Given the description of an element on the screen output the (x, y) to click on. 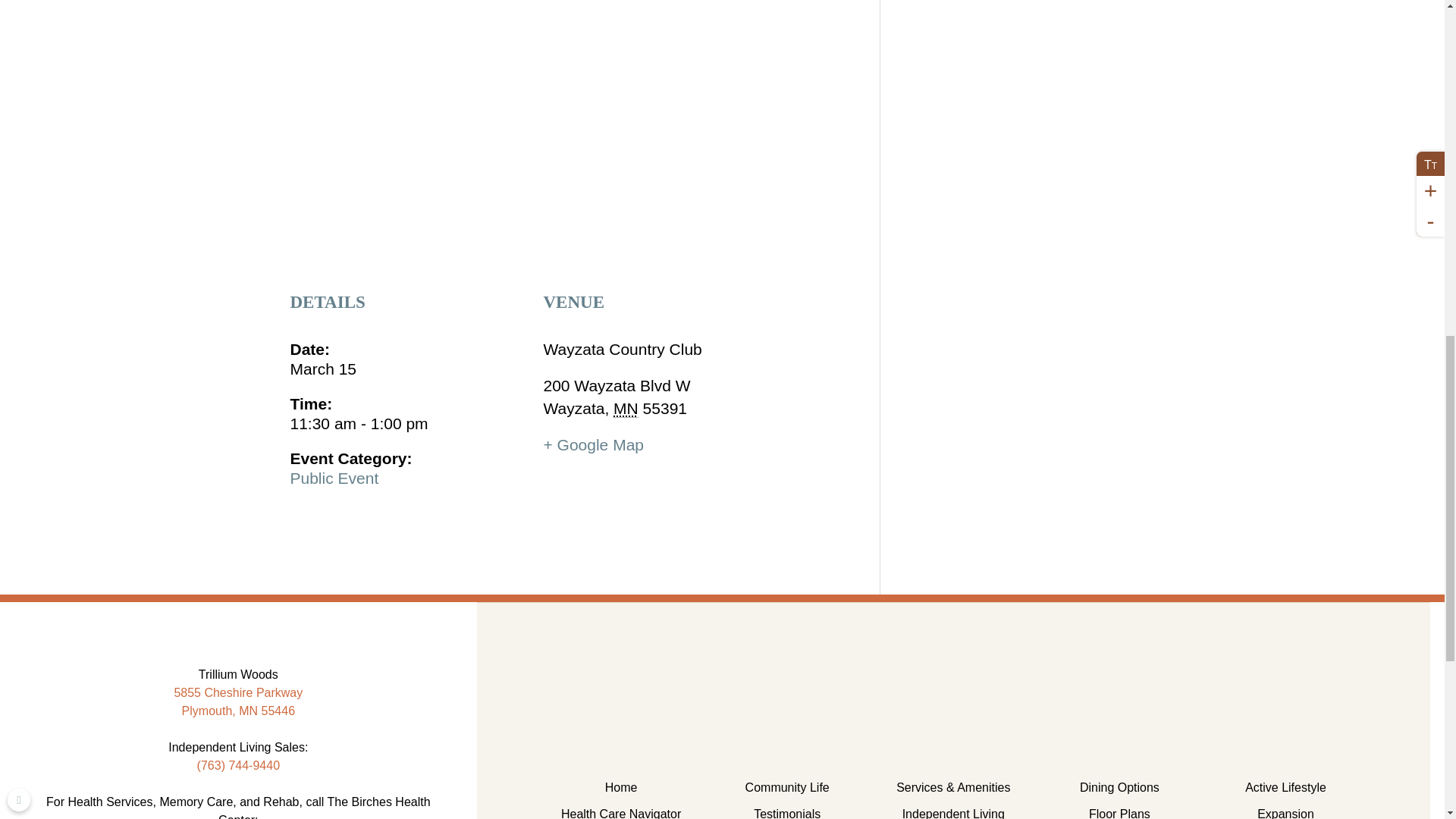
2024-03-15 (408, 387)
Click to view a Google Map (593, 407)
Minnesota (625, 372)
2024-03-15 (408, 332)
